Given the description of an element on the screen output the (x, y) to click on. 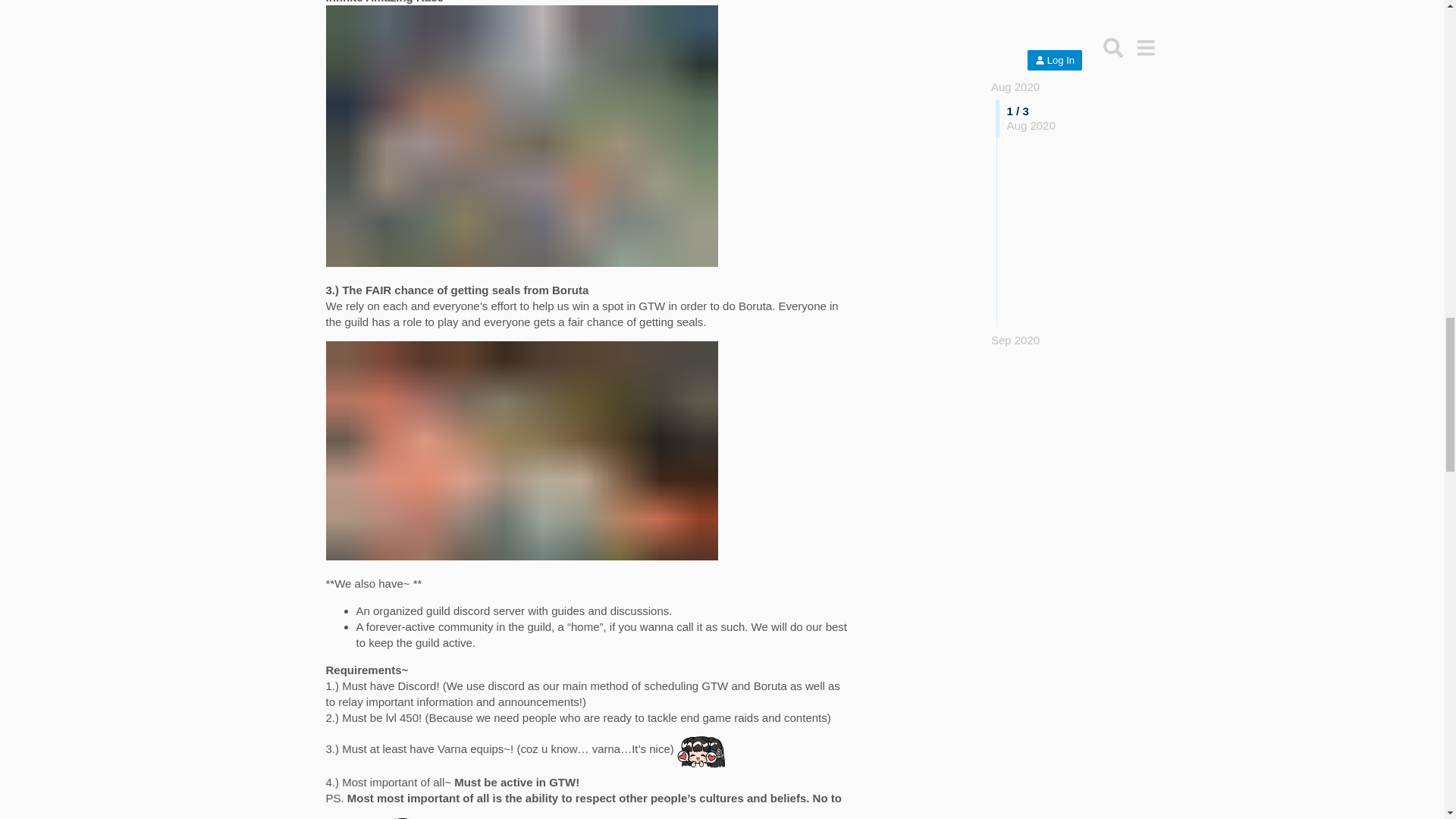
image (521, 135)
image (521, 450)
